Given the description of an element on the screen output the (x, y) to click on. 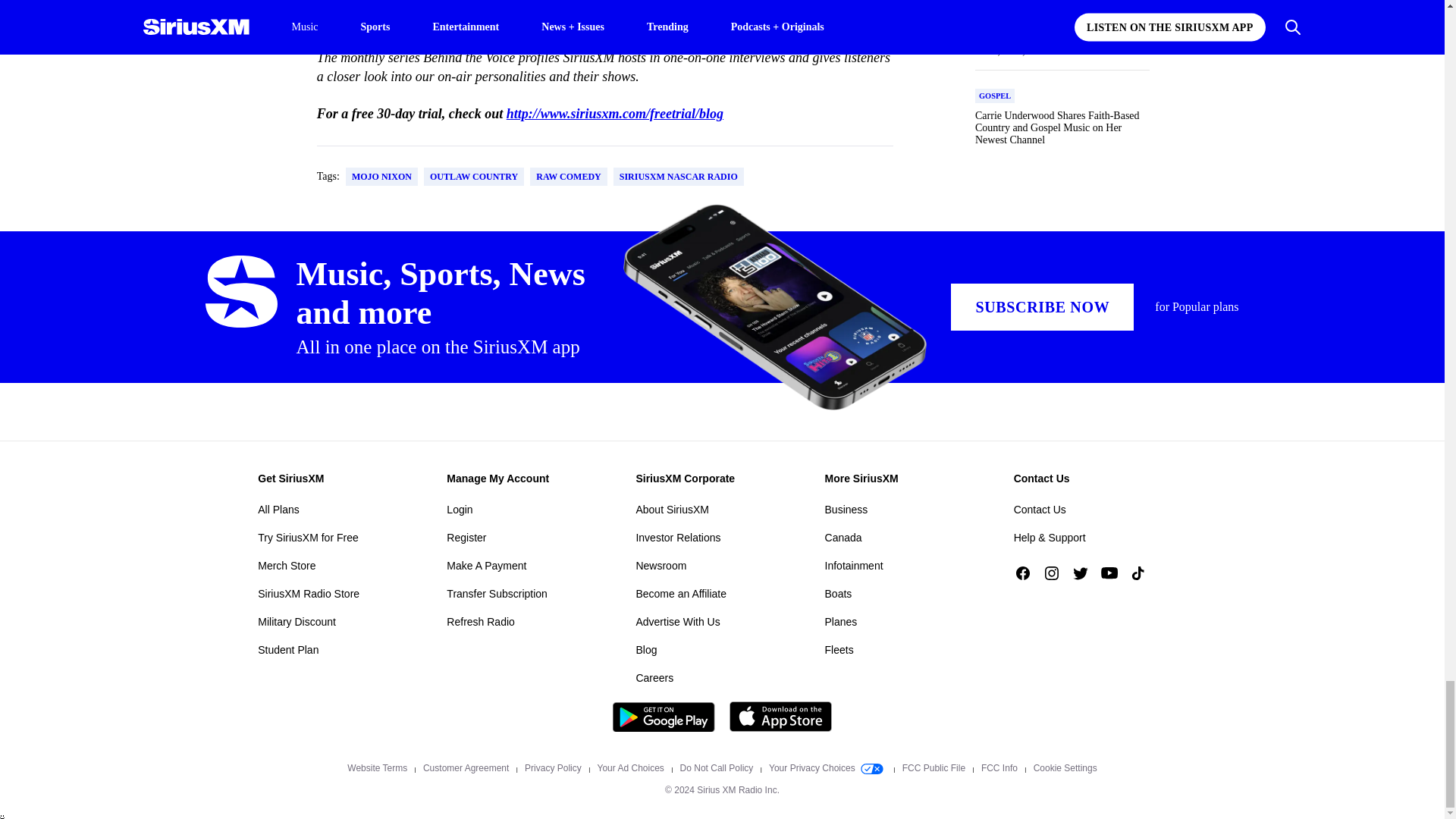
OUTLAW COUNTRY (473, 176)
RAW COMEDY (568, 176)
MOJO NIXON (381, 176)
SIRIUSXM NASCAR RADIO (678, 176)
